Given the description of an element on the screen output the (x, y) to click on. 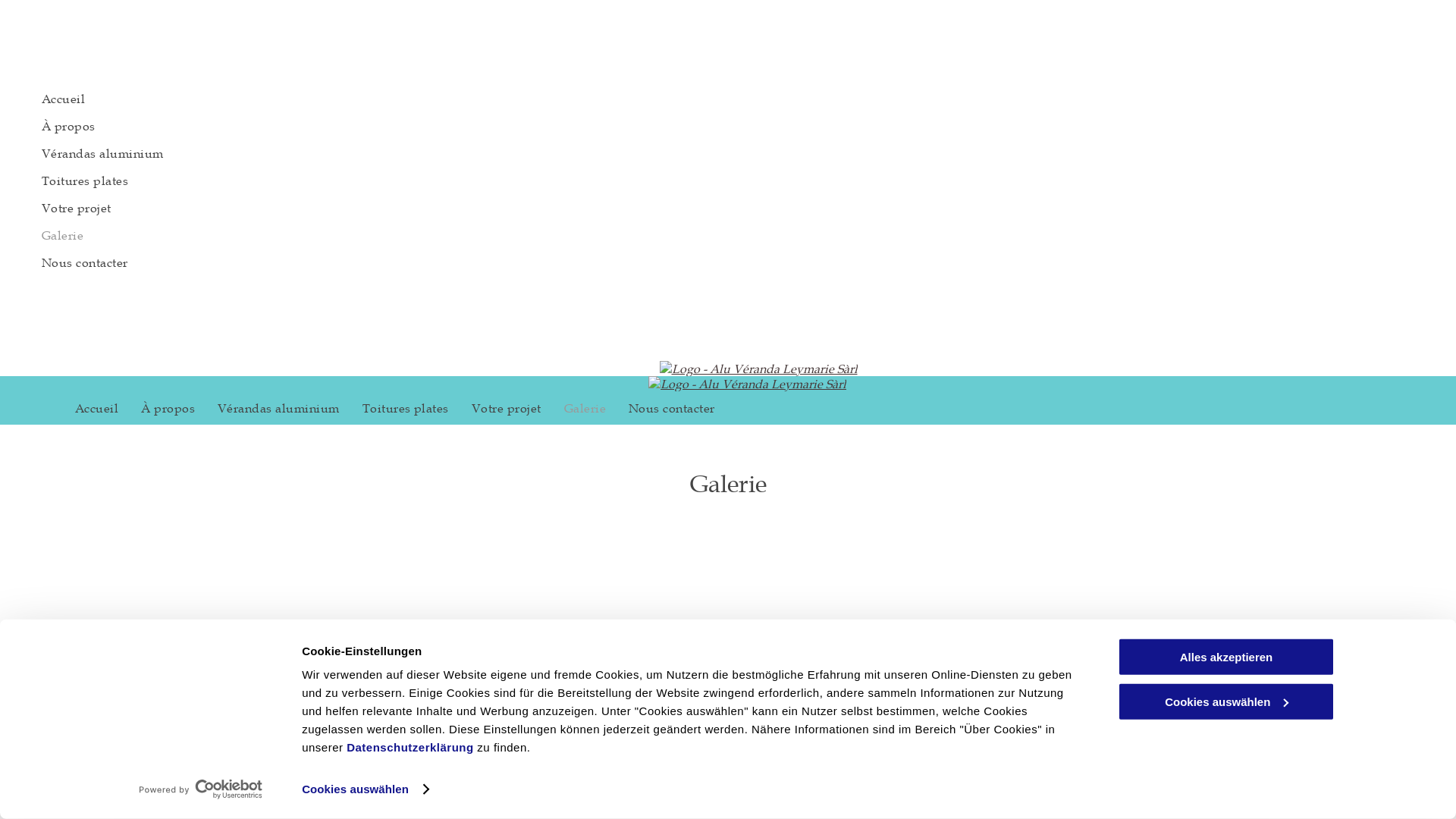
Votre projet Element type: text (506, 407)
Galerie Element type: text (584, 407)
Nous contacter Element type: text (671, 407)
Alles akzeptieren Element type: text (1225, 656)
Accueil Element type: text (96, 407)
Toitures plates Element type: text (405, 407)
